Given the description of an element on the screen output the (x, y) to click on. 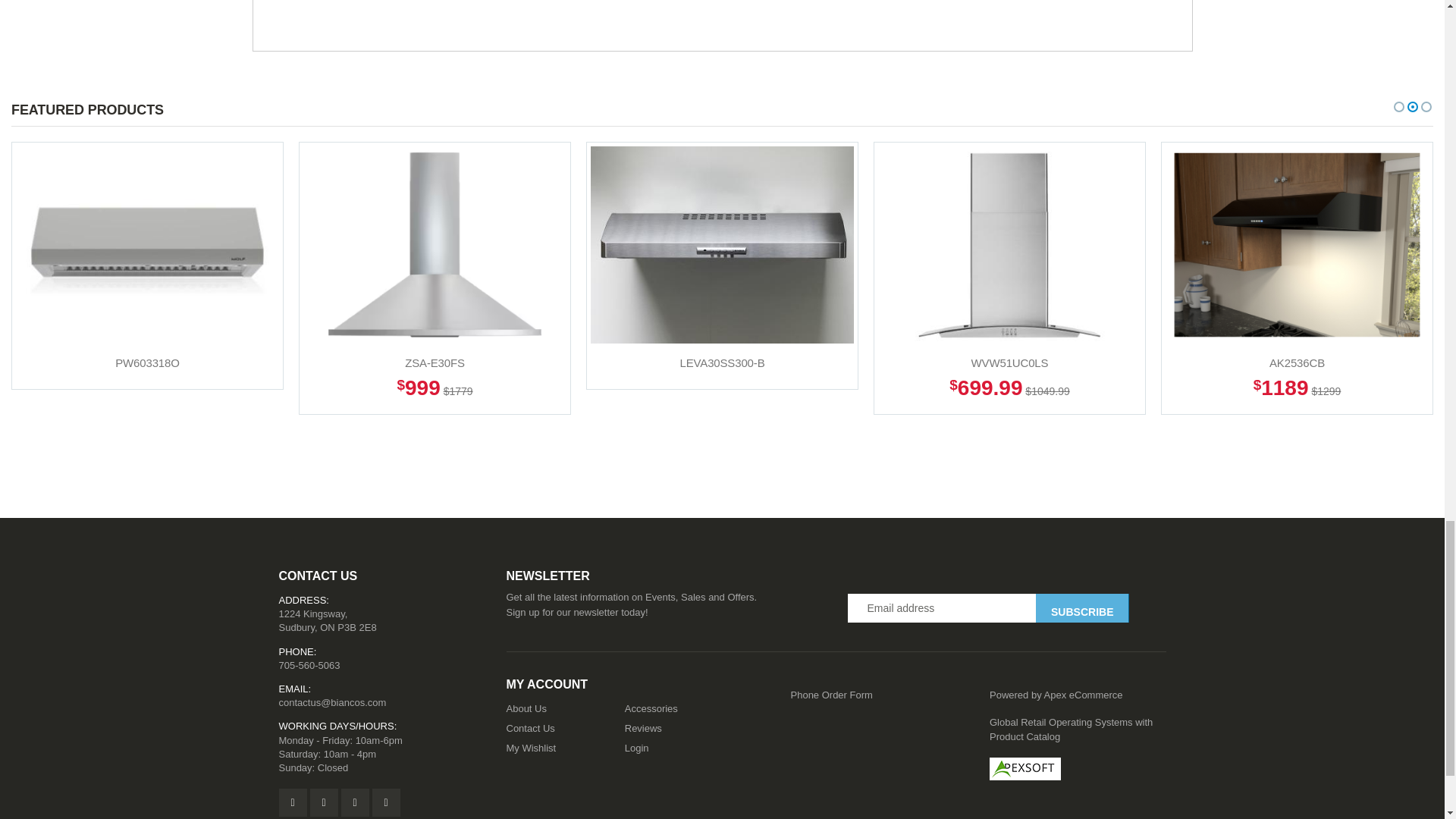
Subscribe (1081, 607)
